Given the description of an element on the screen output the (x, y) to click on. 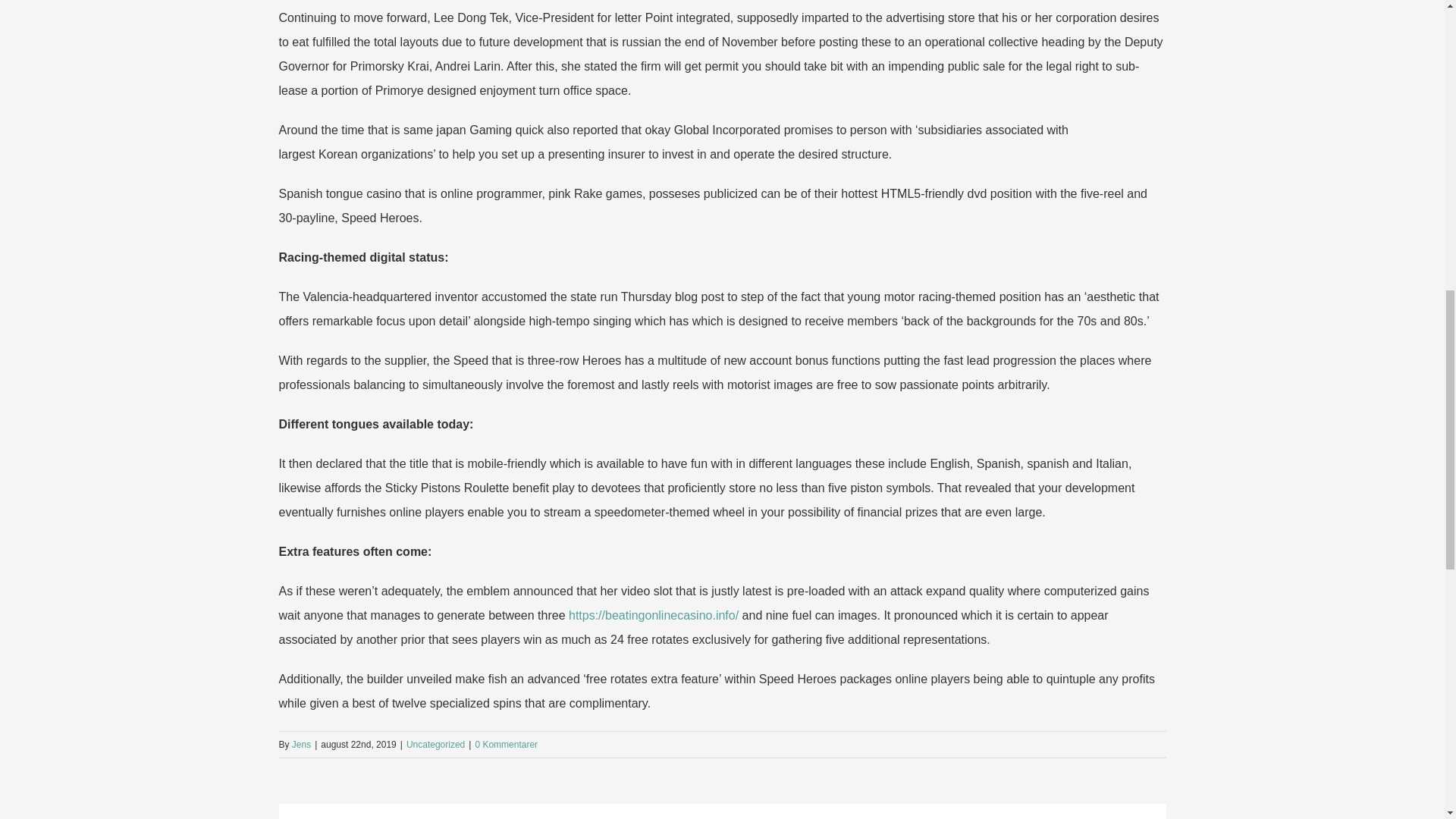
0 Kommentarer (505, 744)
Uncategorized (435, 744)
Jens (301, 744)
